Given the description of an element on the screen output the (x, y) to click on. 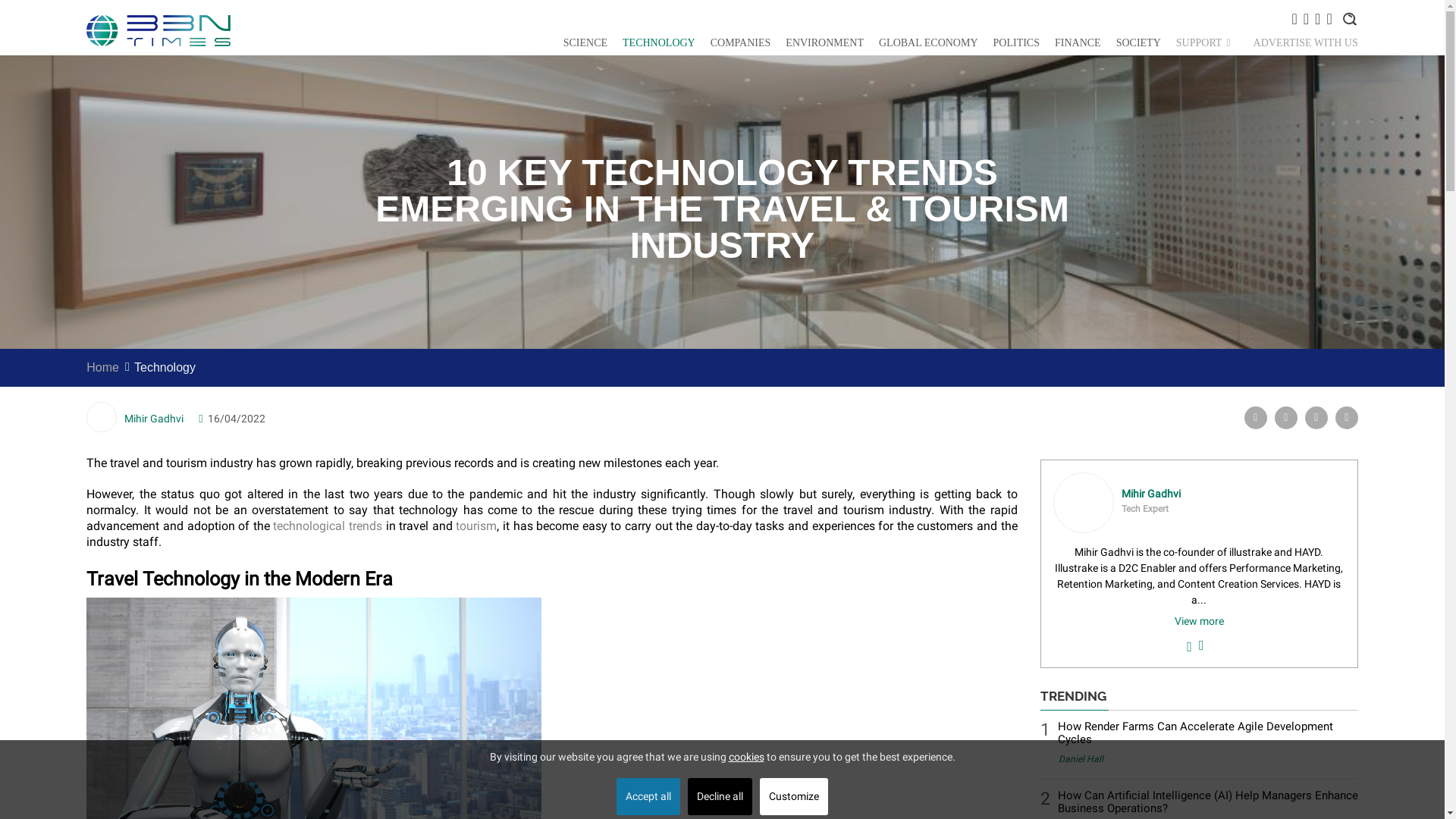
SOCIETY (1138, 42)
SUPPORT (1203, 42)
FINANCE (1077, 42)
TECHNOLOGY (659, 42)
ENVIRONMENT (824, 42)
SCIENCE (585, 42)
facebook (1255, 417)
Share by Email (1346, 417)
COMPANIES (740, 42)
POLITICS (1015, 42)
